Given the description of an element on the screen output the (x, y) to click on. 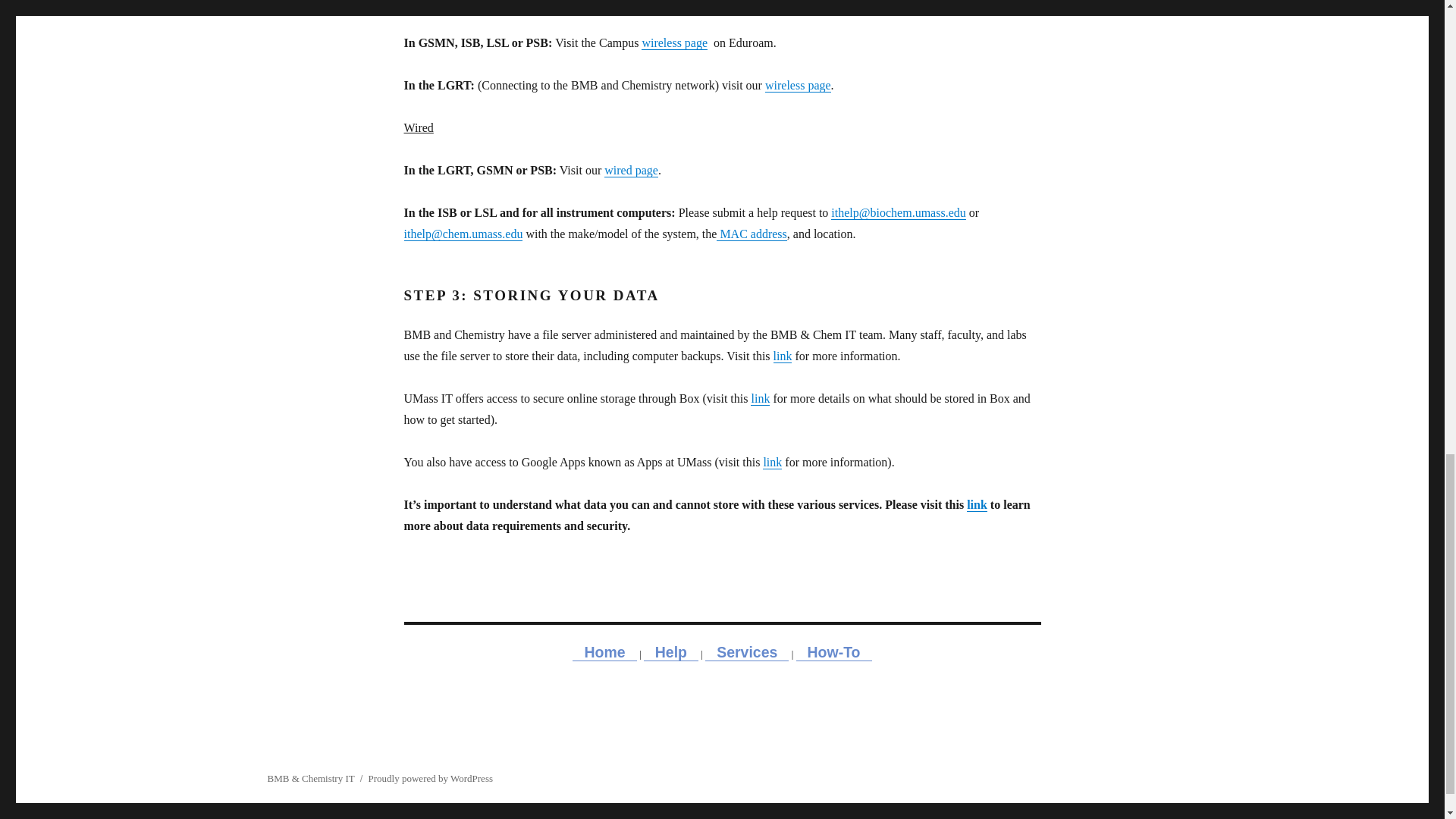
MAC address (751, 233)
Home (604, 651)
link (760, 398)
How-To (834, 651)
link (782, 355)
wireless page (674, 42)
wired page (631, 169)
Help (670, 651)
link (771, 461)
Proudly powered by WordPress (430, 778)
